Given the description of an element on the screen output the (x, y) to click on. 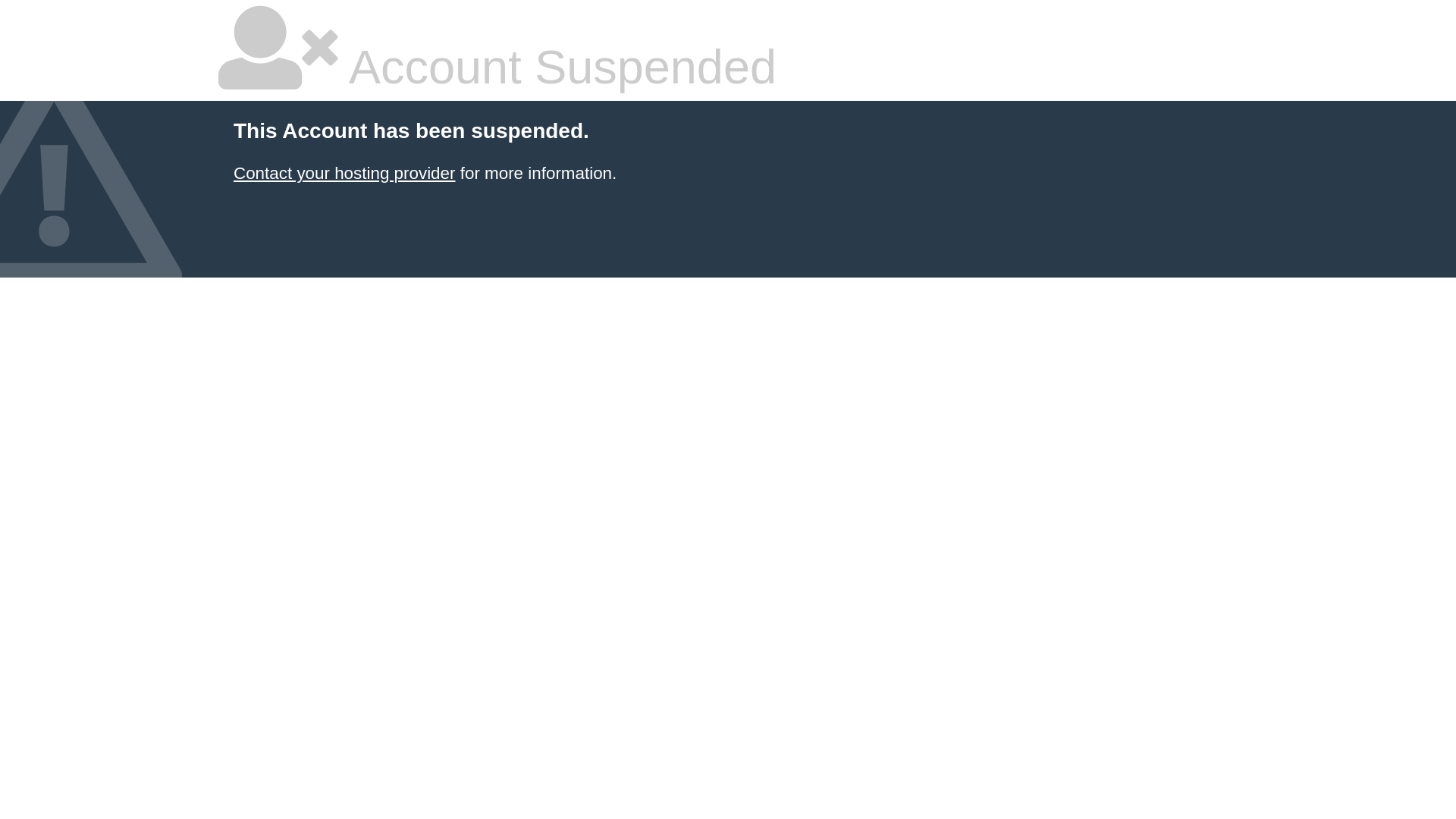
Contact your hosting provider Element type: text (344, 172)
